Given the description of an element on the screen output the (x, y) to click on. 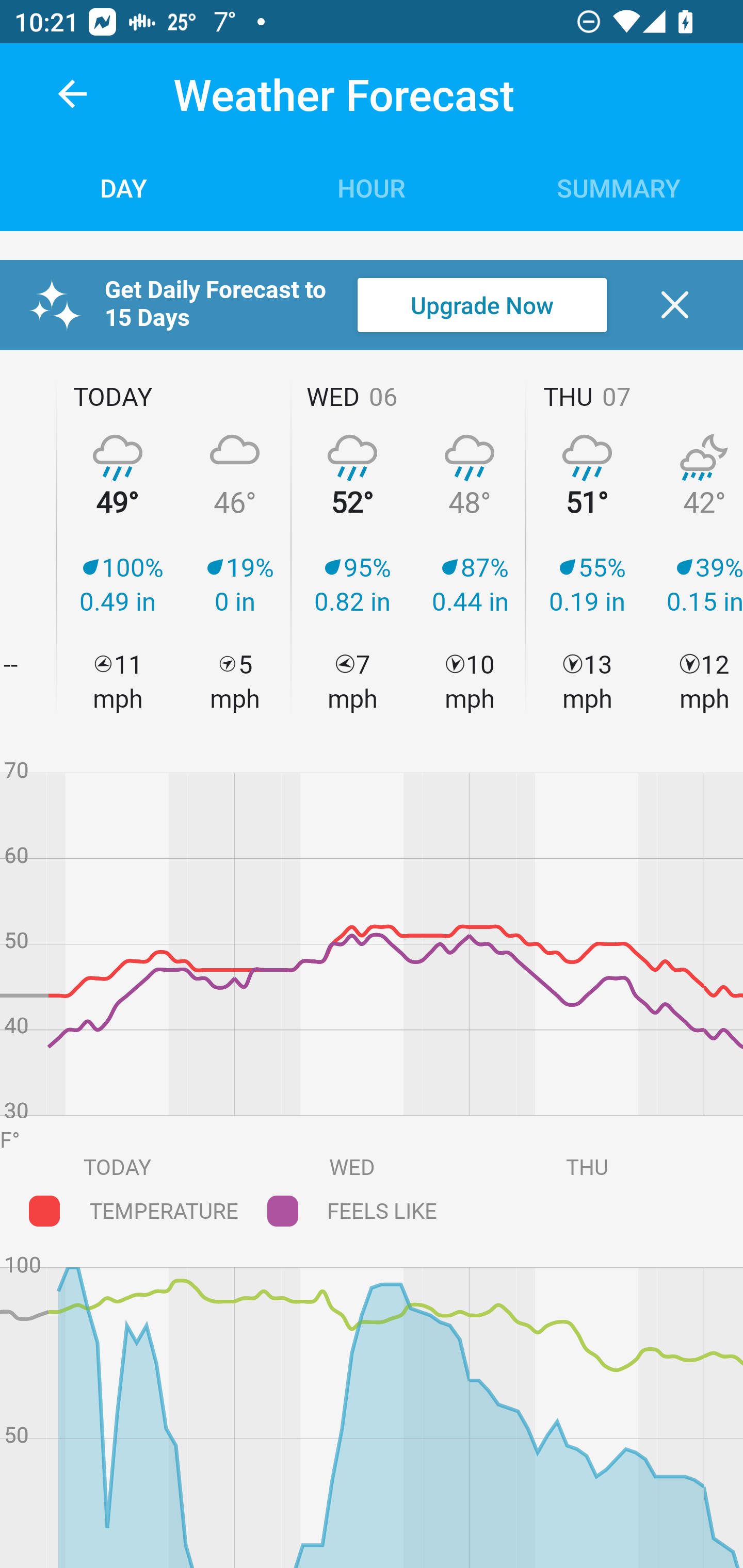
back (71, 93)
Hour Tab HOUR (371, 187)
Summary Tab SUMMARY (619, 187)
Upgrade Now (482, 304)
